Given the description of an element on the screen output the (x, y) to click on. 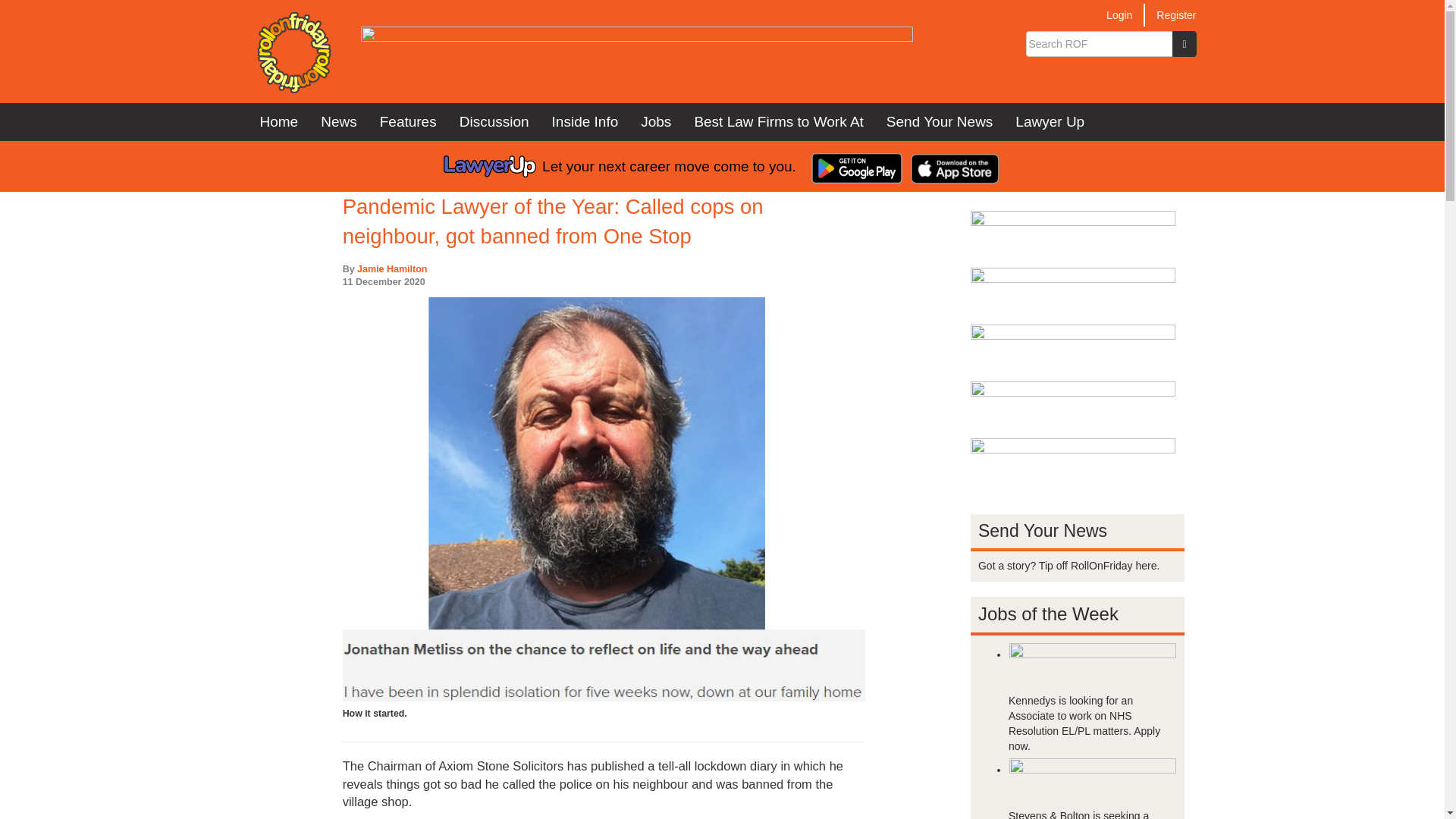
Vote up! (826, 168)
Send Your News (939, 121)
Vote down! (854, 168)
All the Firm of the Year stories and results (778, 121)
Let your next career move come to you. (620, 166)
News (338, 121)
Home (279, 121)
Home (292, 51)
